Given the description of an element on the screen output the (x, y) to click on. 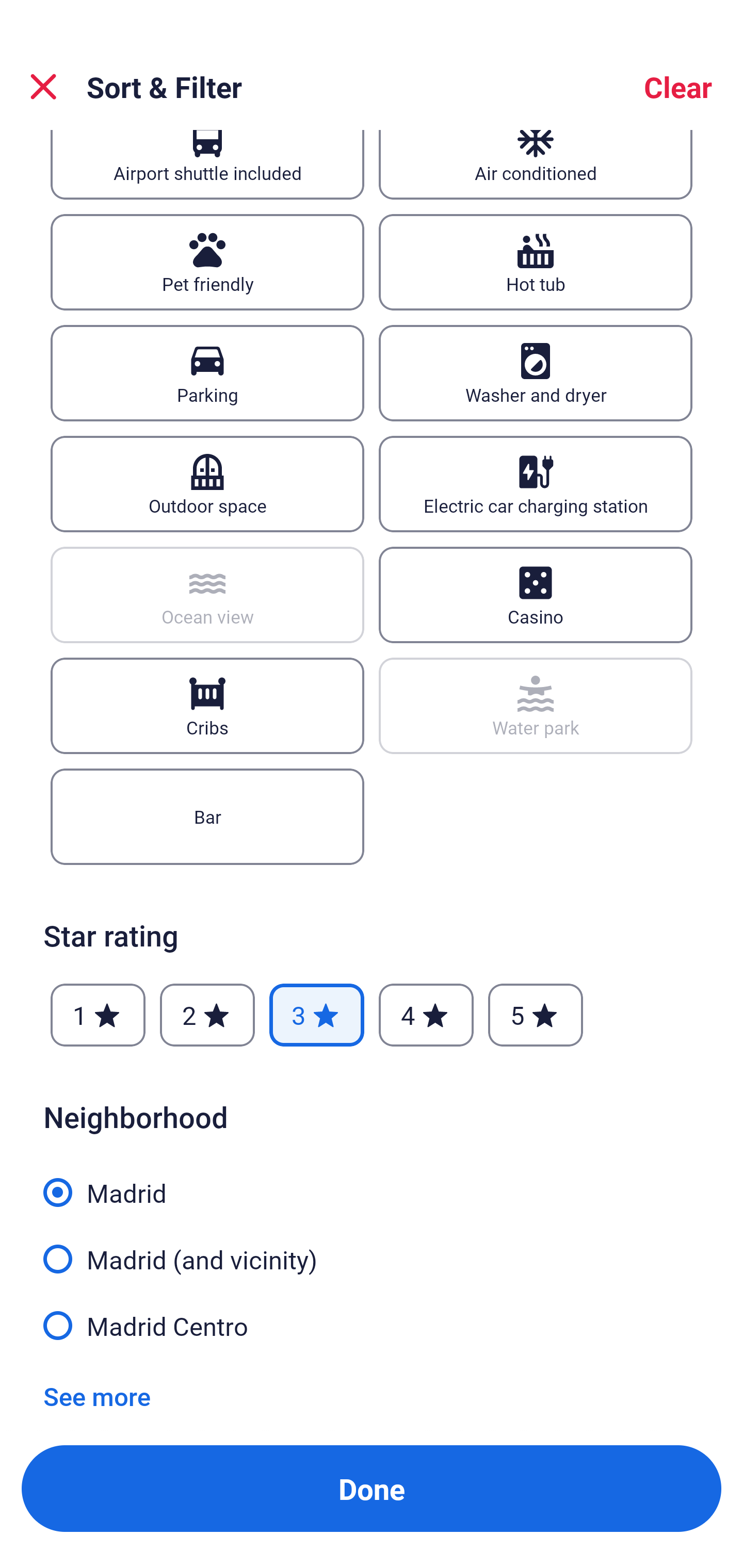
Close Sort and Filter (43, 86)
Clear (677, 86)
Airport shuttle included (207, 164)
Air conditioned (535, 164)
Pet friendly (207, 262)
Hot tub (535, 262)
Parking (207, 372)
Washer and dryer (535, 372)
Outdoor space (207, 483)
Electric car charging station (535, 483)
Ocean view (207, 594)
Casino (535, 594)
Cribs (207, 705)
Water park (535, 705)
Bar (207, 816)
1 (97, 1015)
2 (206, 1015)
3 (316, 1015)
4 (426, 1015)
5 (535, 1015)
Madrid (and vicinity) (371, 1248)
Madrid Centro (371, 1324)
See more See more neighborhoods Link (96, 1396)
Apply and close Sort and Filter Done (371, 1488)
